Given the description of an element on the screen output the (x, y) to click on. 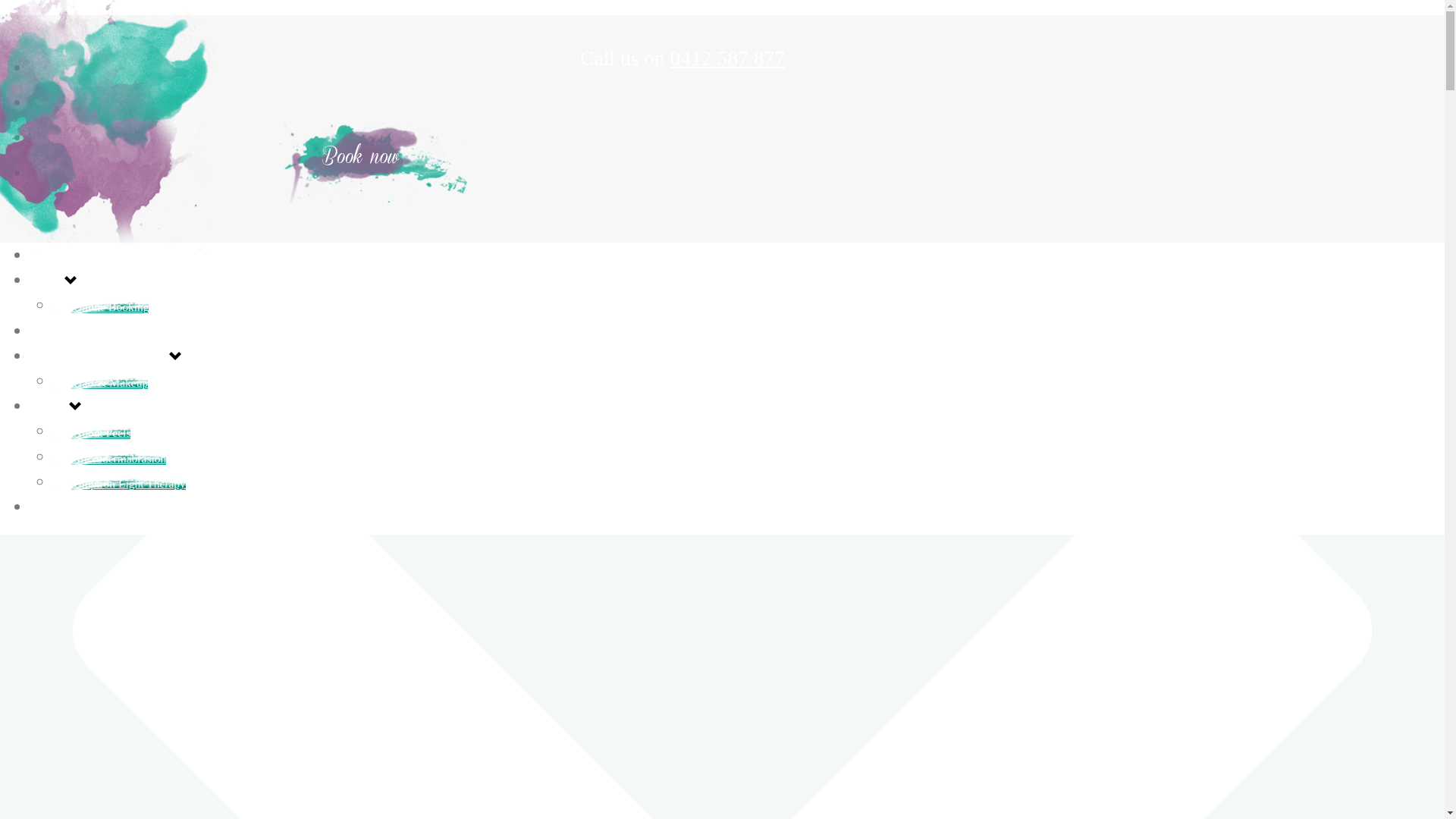
About Peels Element type: text (91, 432)
0412 587 877 Element type: text (727, 57)
Wedding Hair & Makeup Element type: text (99, 356)
Bioptron Light Therapy Element type: text (119, 482)
About Element type: text (47, 280)
Home Element type: text (46, 255)
Online Booking Element type: text (100, 306)
Beauty Element type: text (49, 406)
Pricelist Element type: text (52, 507)
Microdermabrasion Element type: text (109, 457)
Hair & Makeup Element type: text (100, 382)
Request A Quote Element type: text (76, 331)
